Given the description of an element on the screen output the (x, y) to click on. 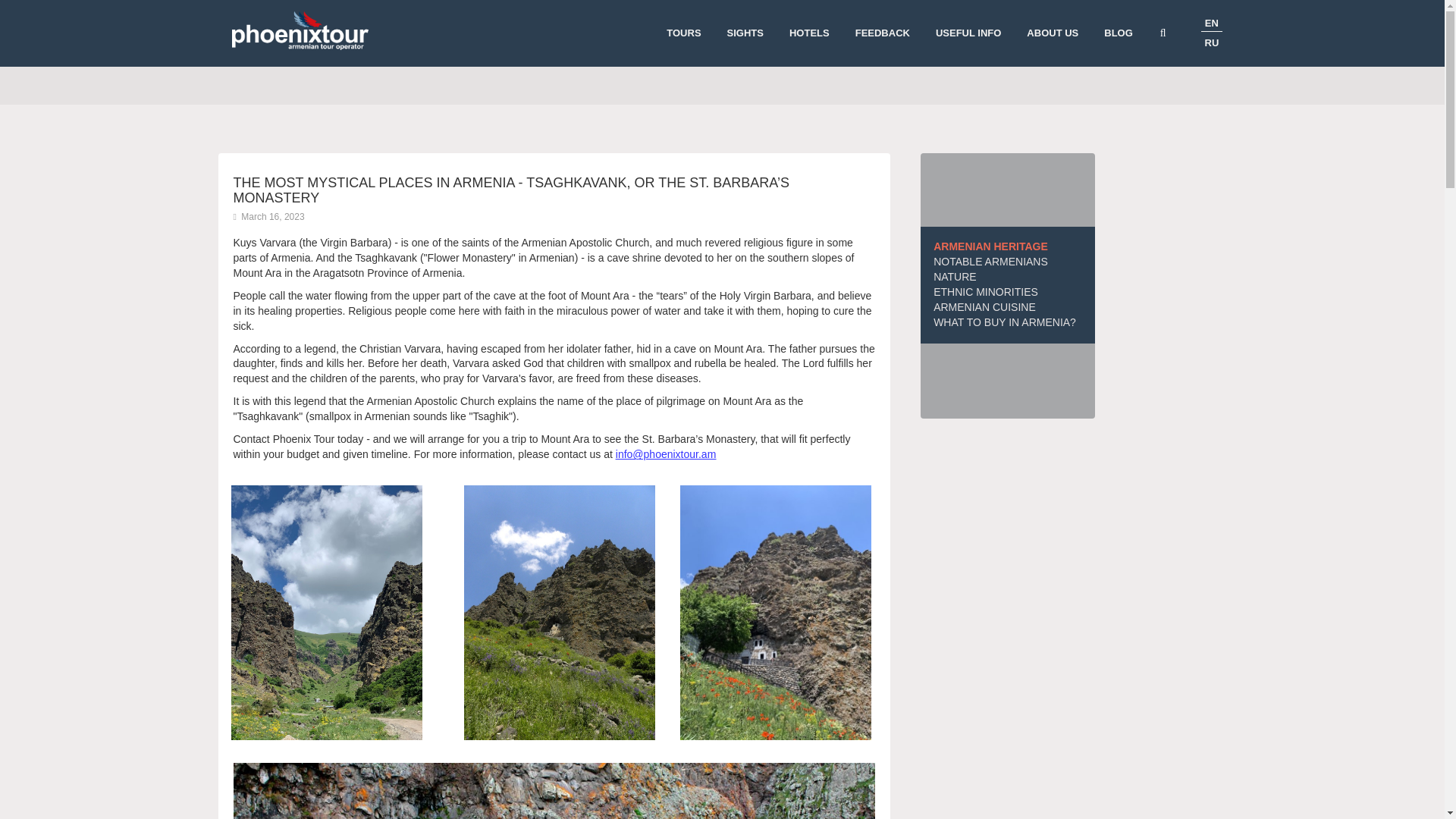
USEFUL INFO (968, 33)
EN (1211, 22)
FEEDBACK (883, 33)
RU (1211, 42)
SIGHTS (745, 33)
HOTELS (809, 33)
TOURS (683, 33)
U (1007, 404)
ABOUT US (1051, 33)
